Given the description of an element on the screen output the (x, y) to click on. 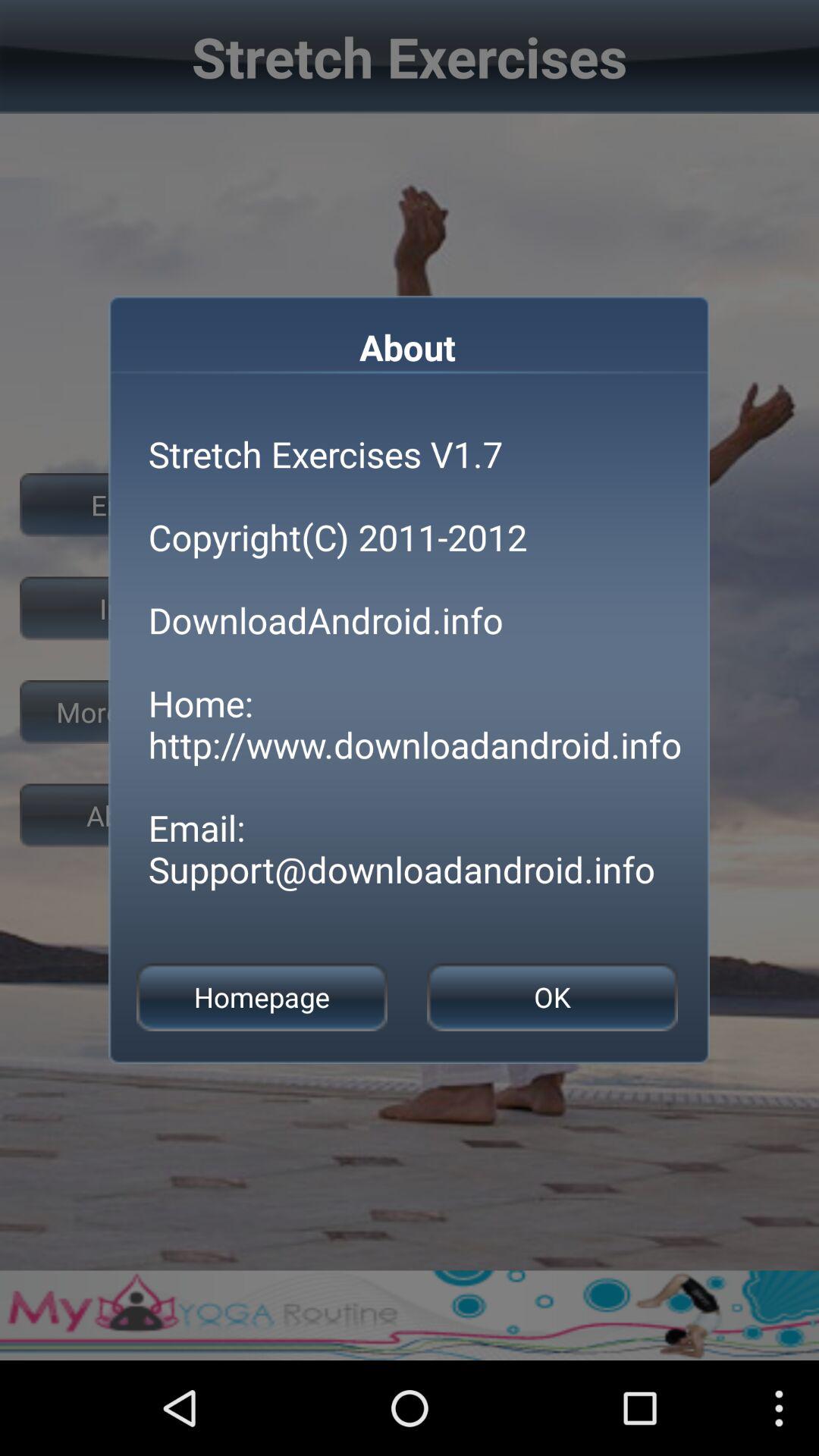
open the icon to the left of ok button (261, 997)
